Given the description of an element on the screen output the (x, y) to click on. 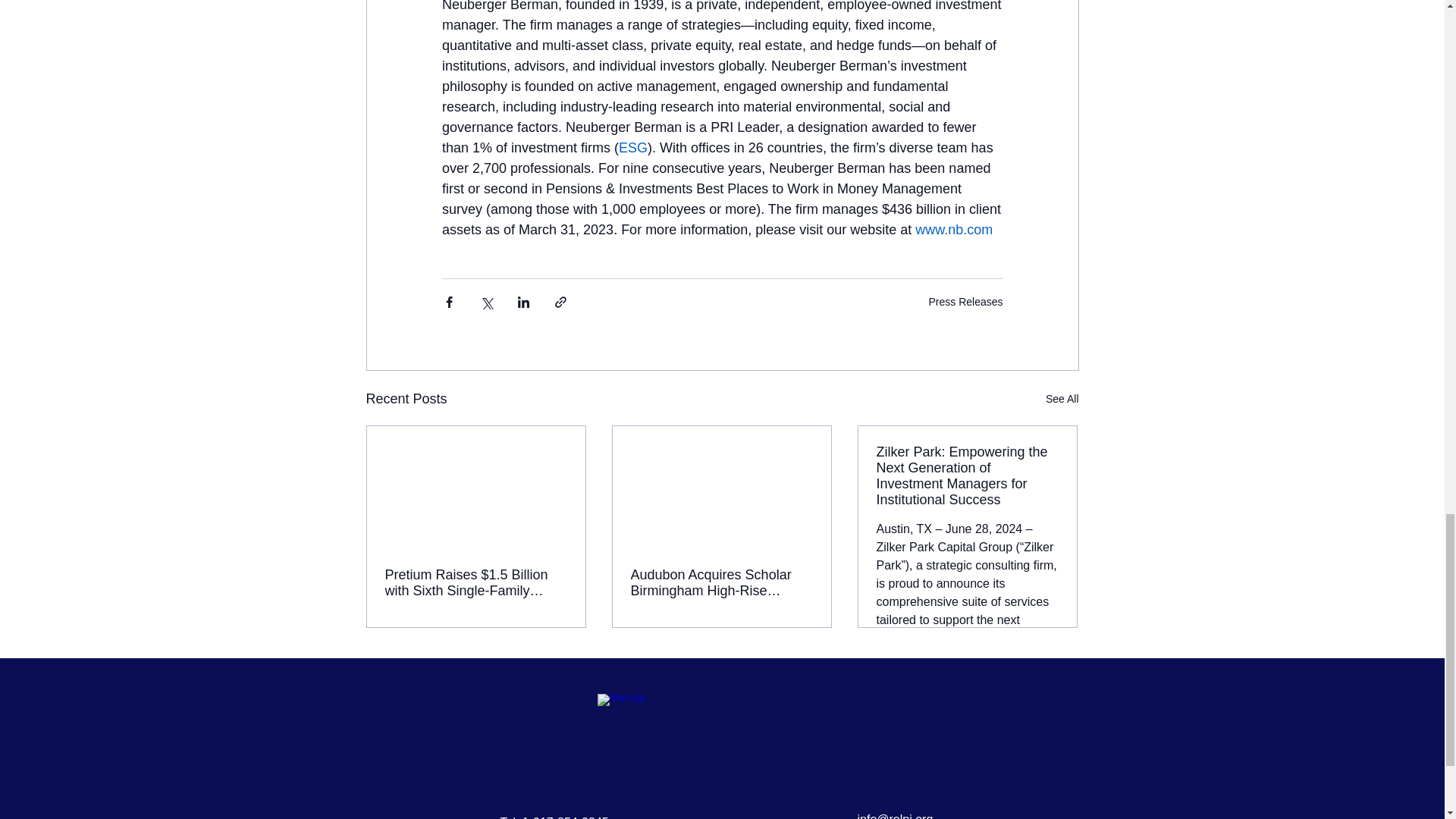
Press Releases (965, 301)
See All (1061, 399)
